Given the description of an element on the screen output the (x, y) to click on. 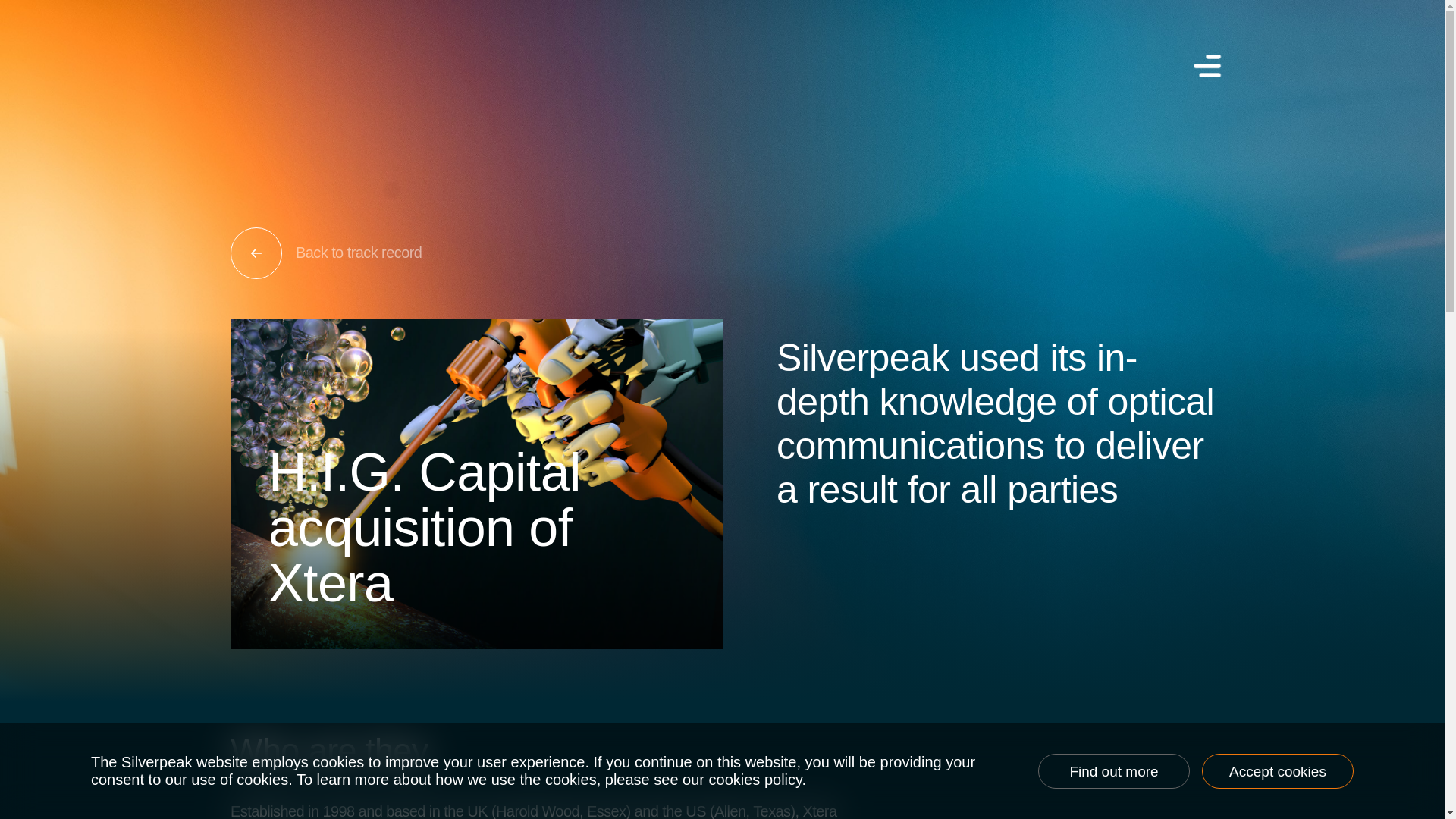
Back to track record (727, 252)
Menu (1205, 65)
Accept cookies (1278, 770)
Find out more (1113, 770)
